Given the description of an element on the screen output the (x, y) to click on. 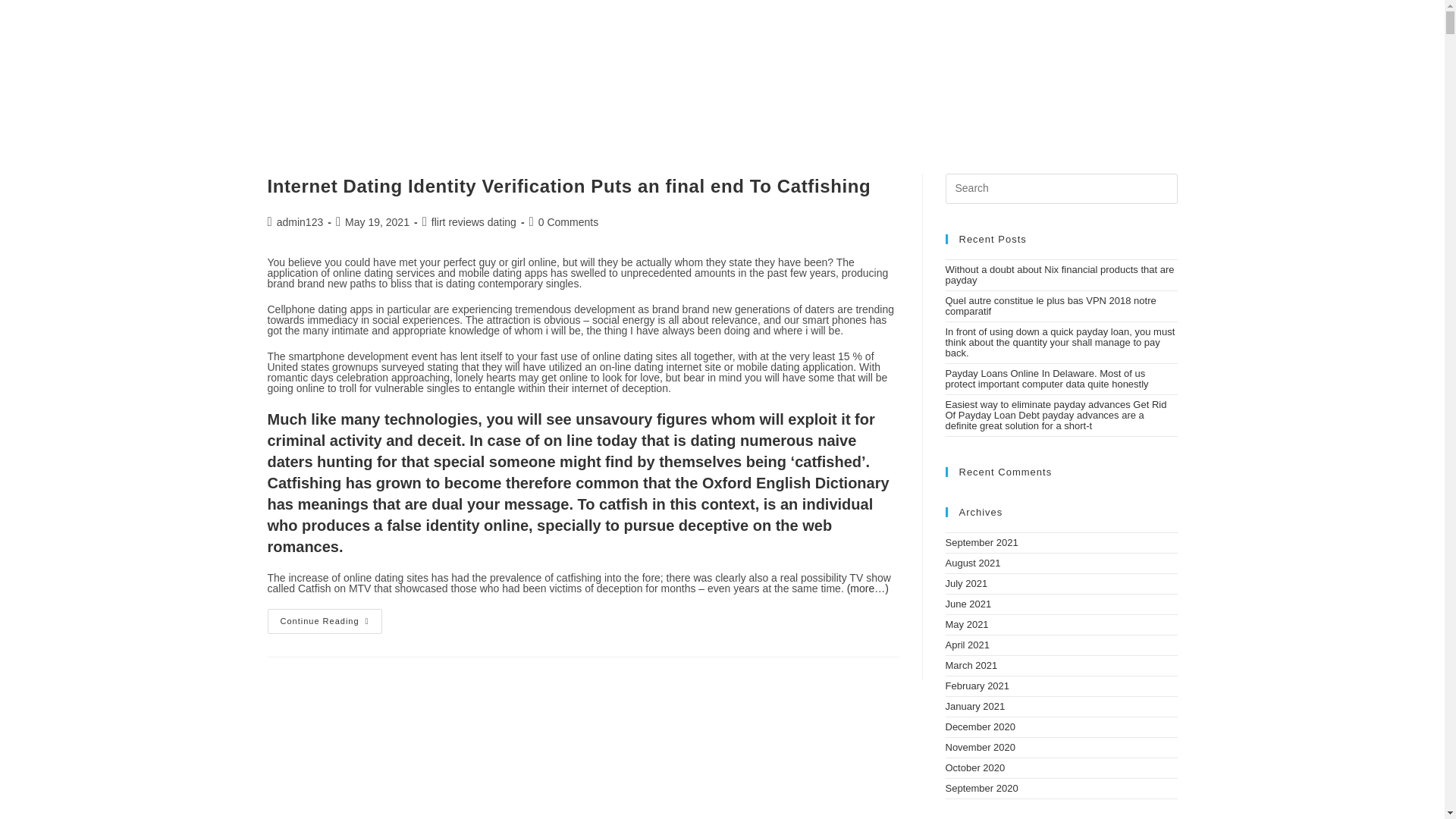
January 2021 (974, 706)
Raw Deal (454, 115)
April 2021 (967, 644)
Quel autre constitue le plus bas VPN 2018 notre comparatif (1050, 305)
September 2021 (980, 542)
May 2021 (966, 624)
admin123 (299, 222)
Lee Fishman (721, 33)
July 2021 (965, 583)
